Given the description of an element on the screen output the (x, y) to click on. 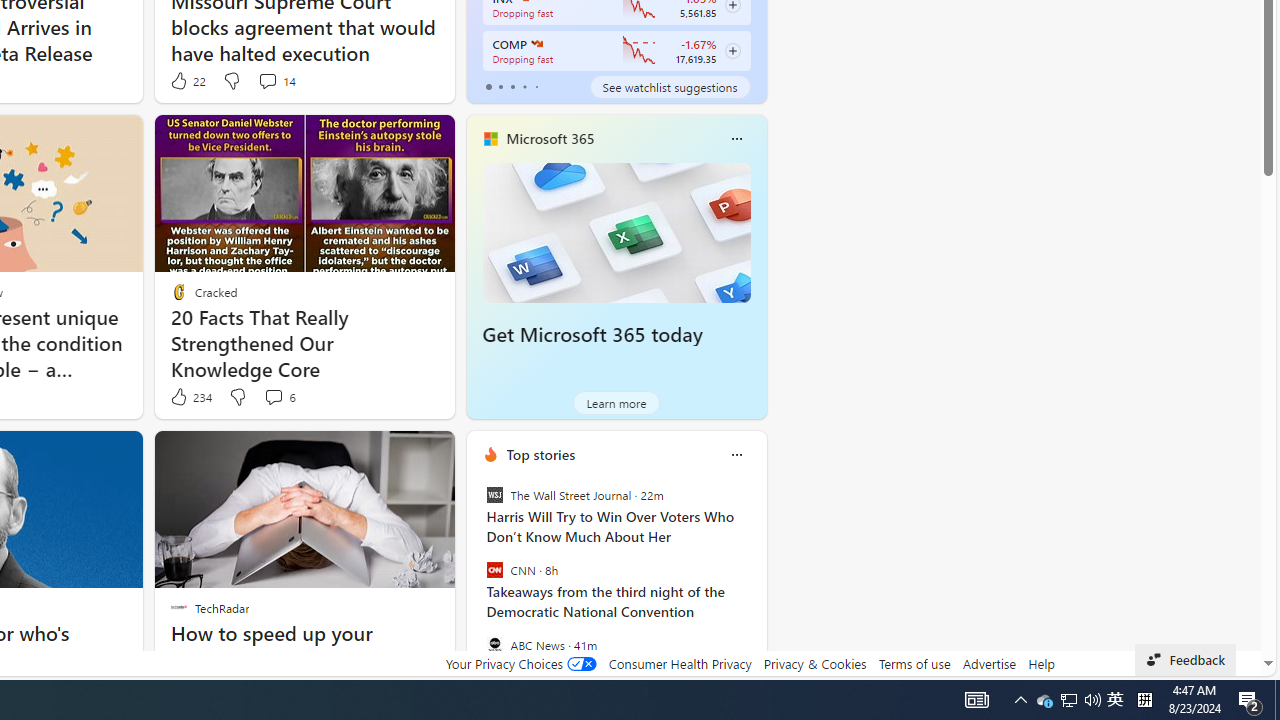
234 Like (190, 397)
Learn more (616, 402)
previous (476, 583)
ABC News (494, 644)
22 Like (186, 80)
tab-3 (524, 86)
Class: follow-button  m (732, 51)
